Given the description of an element on the screen output the (x, y) to click on. 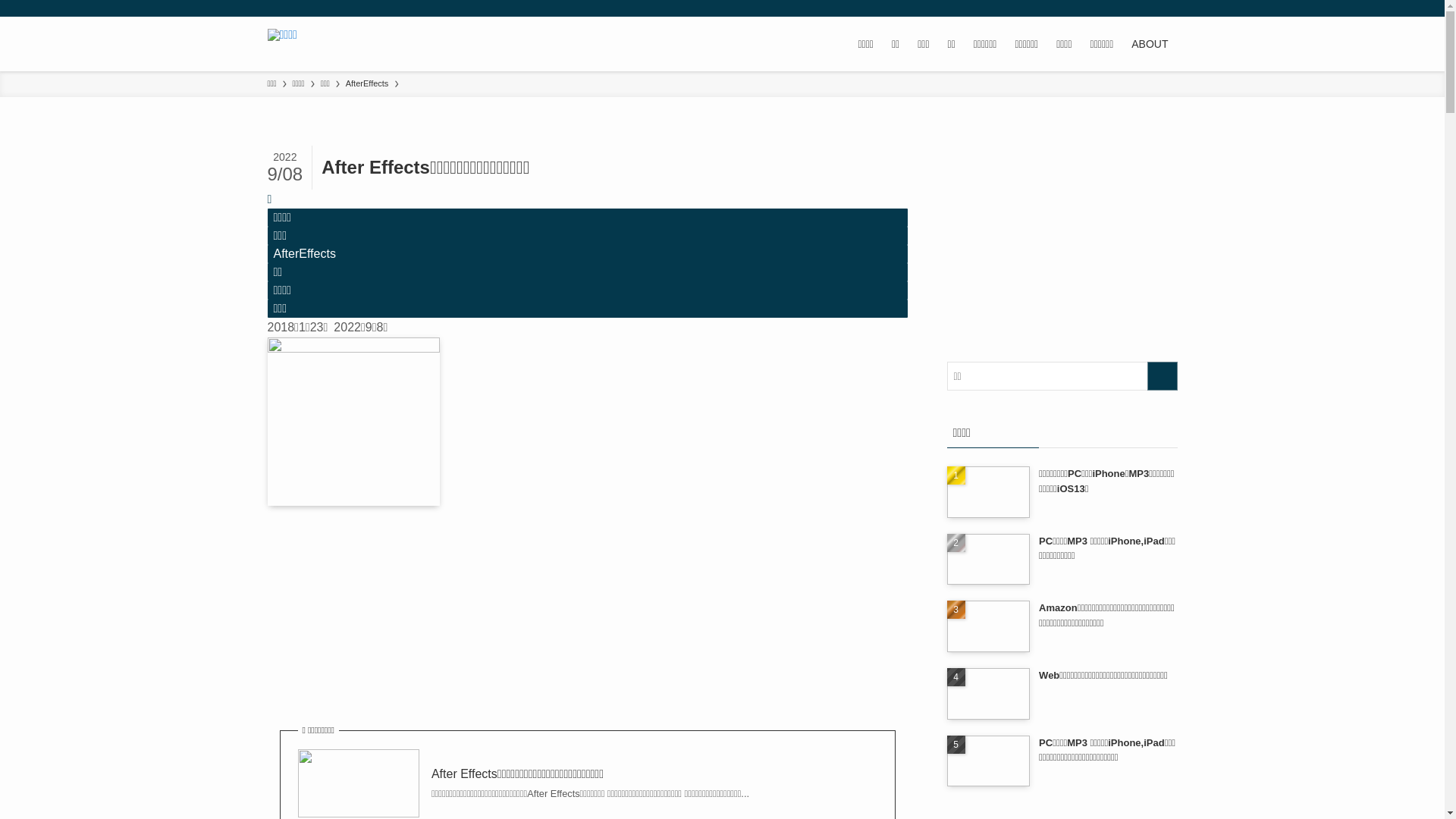
Advertisement Element type: hover (586, 630)
AfterEffects Element type: text (586, 253)
Advertisement Element type: hover (1061, 240)
ABOUT Element type: text (1149, 43)
search Element type: text (1161, 375)
AfterEffects Element type: text (367, 84)
